Given the description of an element on the screen output the (x, y) to click on. 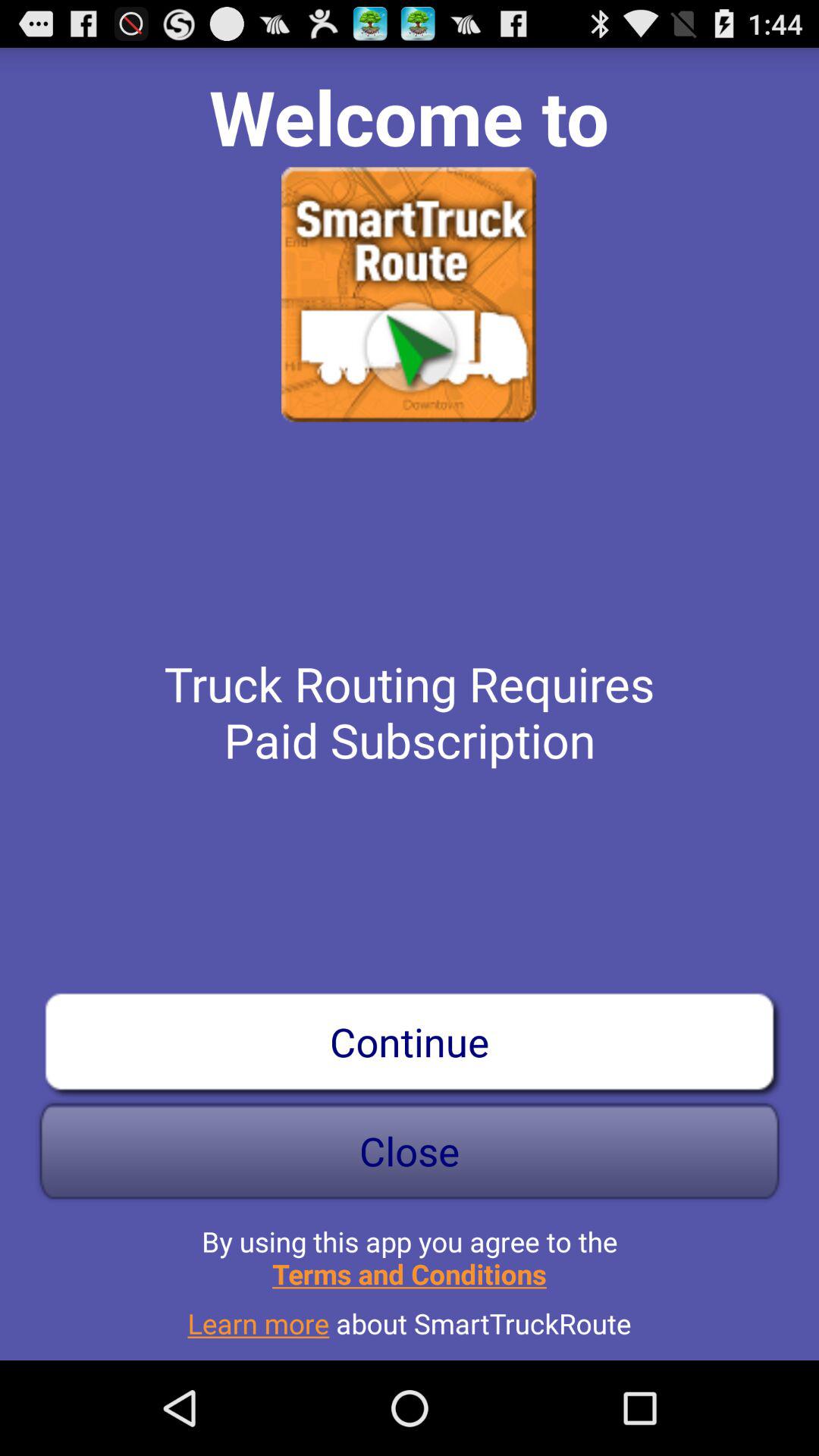
tap button below close (409, 1251)
